Given the description of an element on the screen output the (x, y) to click on. 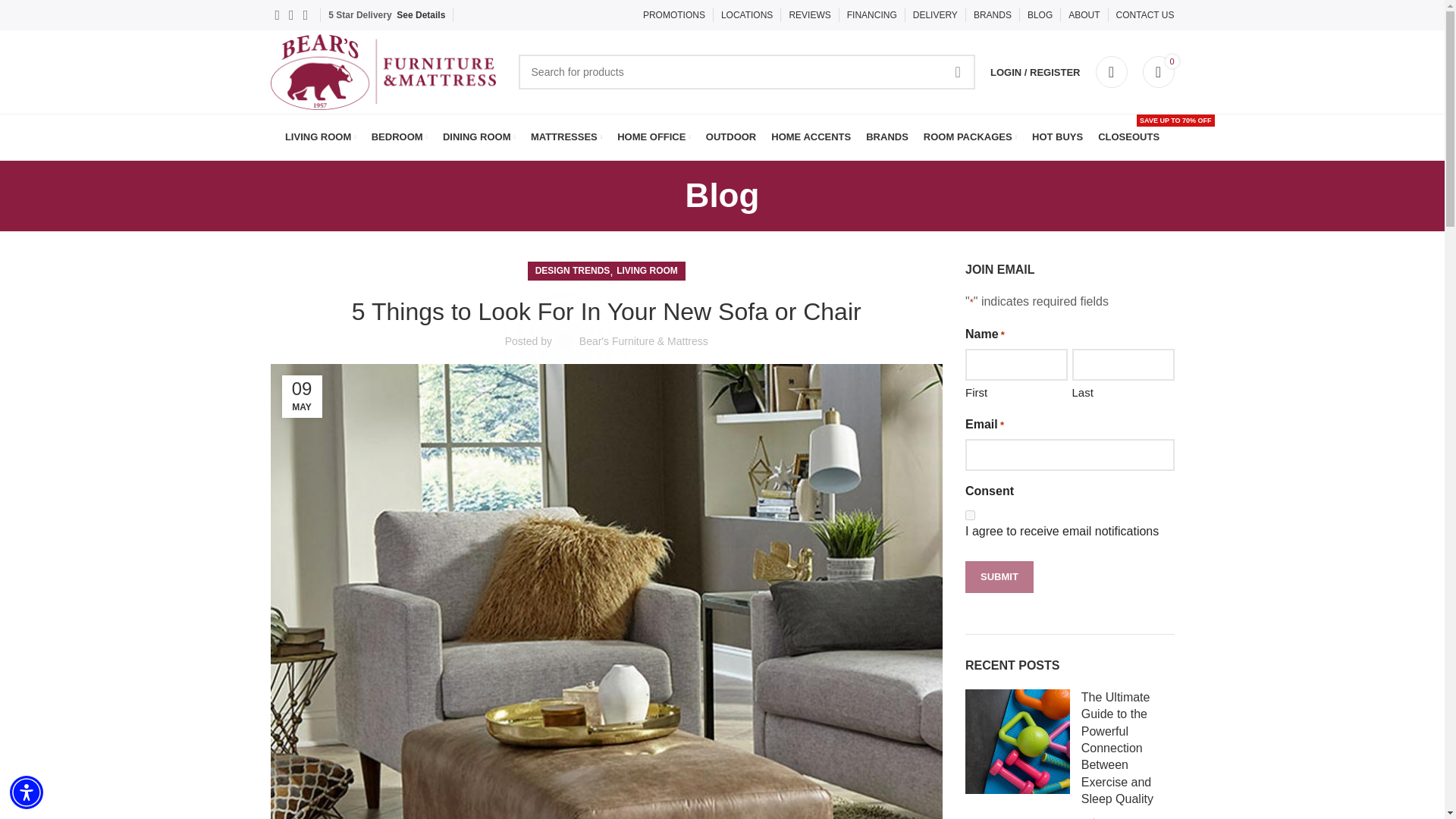
1 (970, 515)
LIVING ROOM (320, 137)
Submit (999, 576)
SEARCH (957, 71)
Shopping cart (1157, 71)
See Details (420, 14)
REVIEWS (809, 15)
FINANCING (871, 15)
Log in (954, 320)
My Wishlist (1110, 71)
Accessibility Menu (26, 792)
Search for products (746, 71)
BRANDS (992, 15)
0 (1157, 71)
CONTACT US (1145, 15)
